Given the description of an element on the screen output the (x, y) to click on. 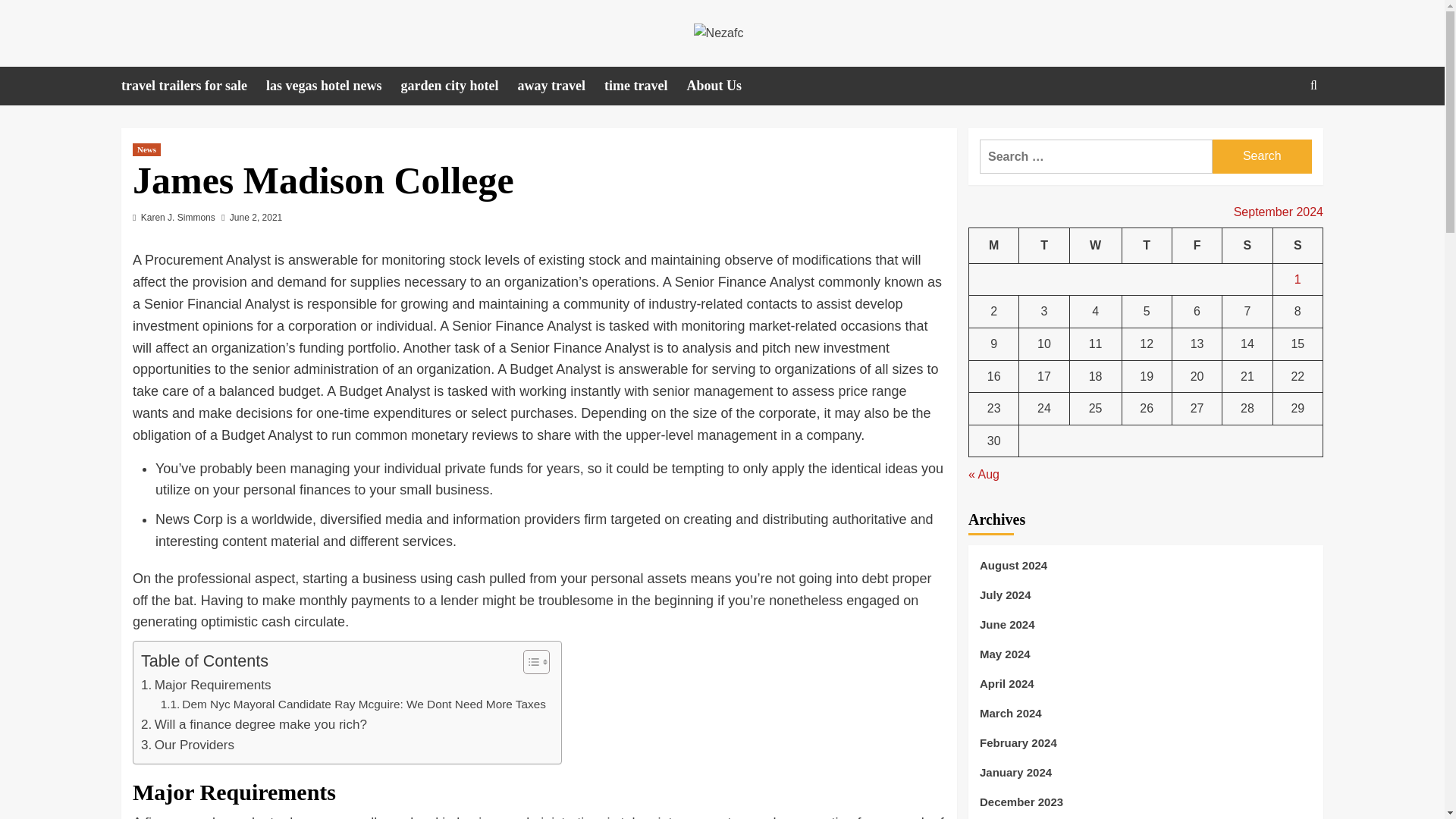
Major Requirements (205, 684)
Our Providers (187, 744)
Monday (994, 245)
away travel (561, 85)
Search (1278, 132)
Friday (1196, 245)
Saturday (1247, 245)
Thursday (1146, 245)
travel trailers for sale (193, 85)
